Given the description of an element on the screen output the (x, y) to click on. 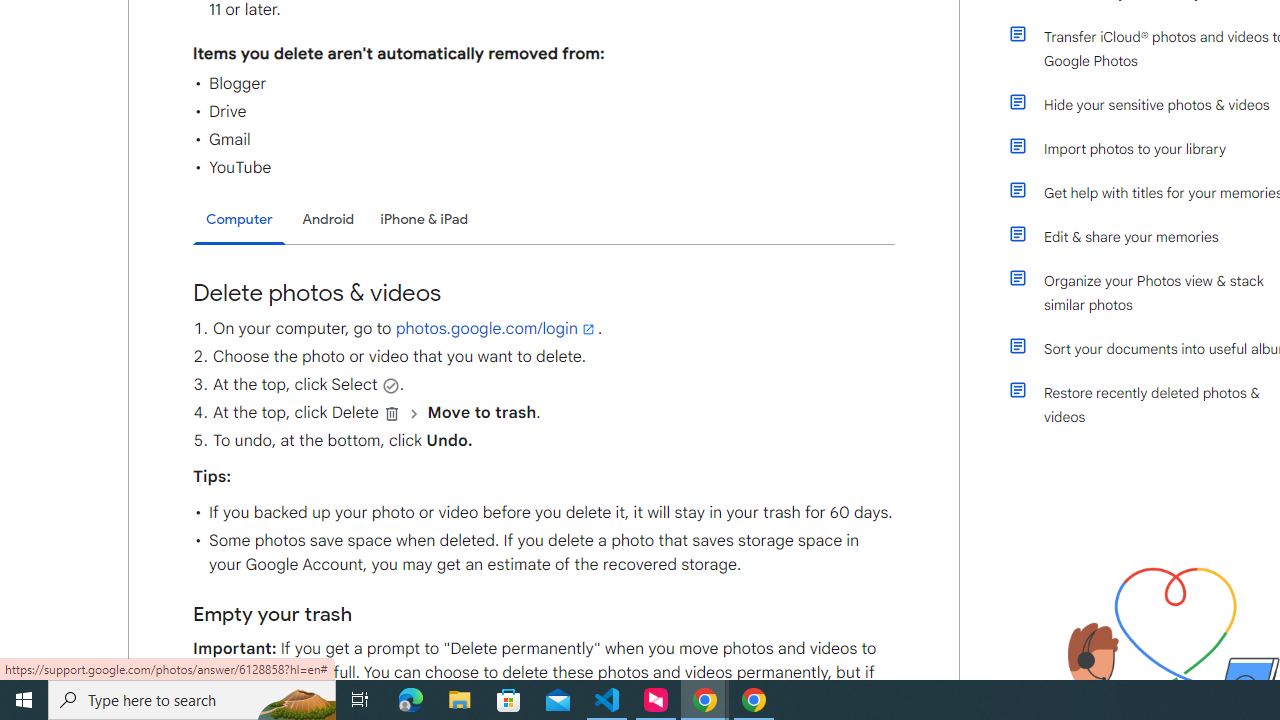
iPhone & iPad (424, 219)
Android (328, 219)
and then (413, 413)
Computer (239, 219)
photos.google.com/login (496, 328)
Delete (391, 413)
Select (390, 385)
